Given the description of an element on the screen output the (x, y) to click on. 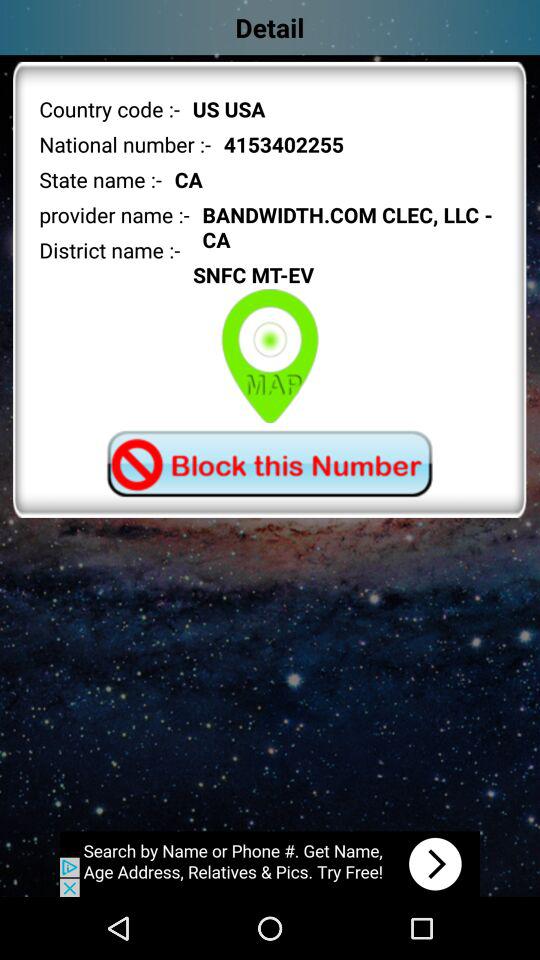
this is an advertisement you can close it in the bottom left corner (270, 864)
